Given the description of an element on the screen output the (x, y) to click on. 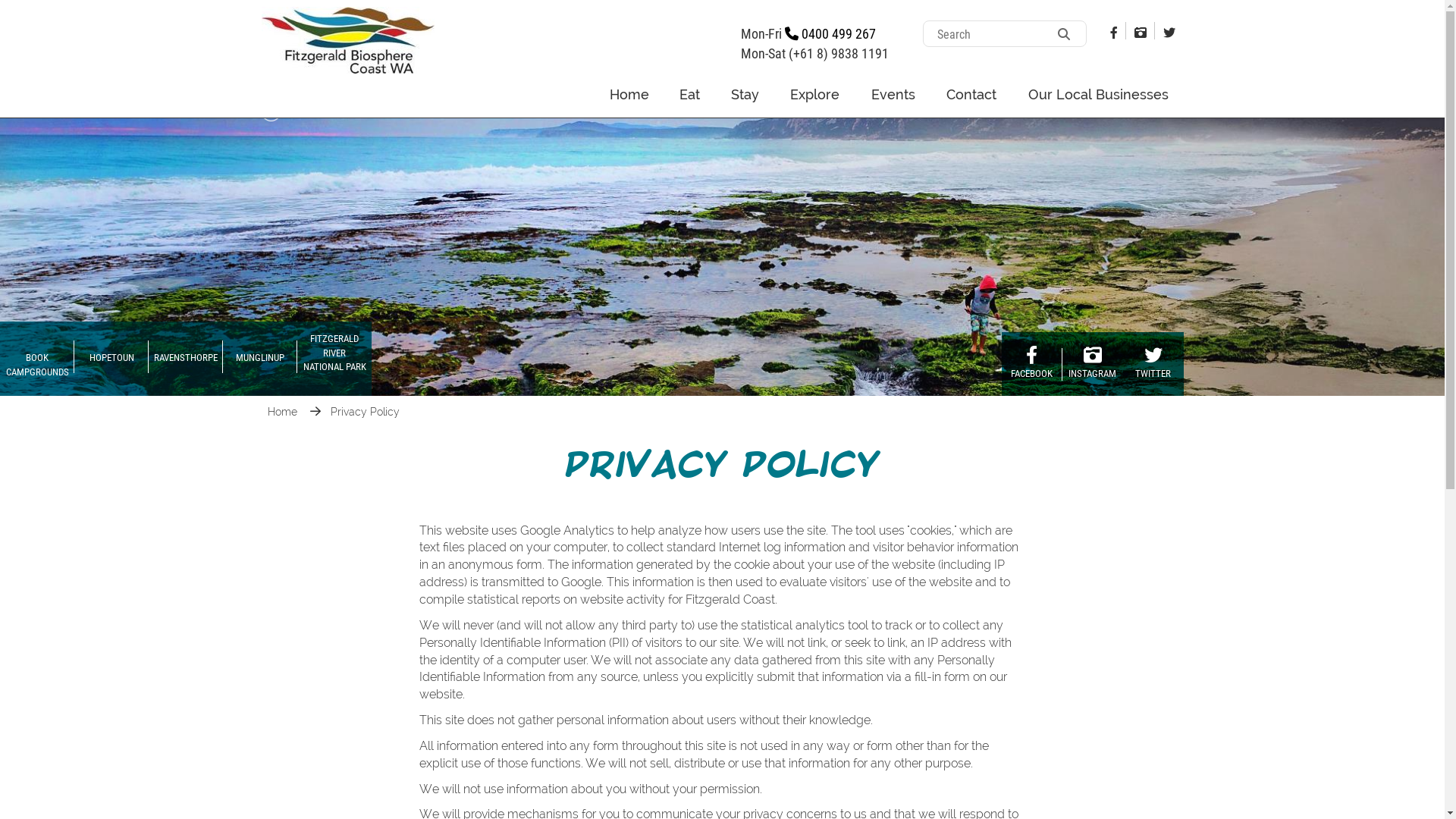
 0400 499 267 Element type: text (829, 33)
Follow us on Twitter Element type: hover (1168, 31)
BOOK CAMPGROUNDS Element type: text (37, 358)
TWITTER Element type: text (1152, 363)
FITZGERALD NATIONAL PARK Element type: text (330, 110)
Stay Element type: text (745, 94)
Home Element type: text (282, 411)
Our Local Businesses Element type: text (1098, 94)
Fitzgerald Coast Element type: hover (346, 38)
FITZGERALD RIVER NATIONAL PARK Element type: text (334, 358)
INSTAGRAM Element type: text (1091, 363)
Home Element type: text (629, 94)
RAVENSTHORPE Element type: text (185, 358)
Contact Element type: text (972, 94)
Events Element type: text (892, 94)
Privacy Policy Element type: text (364, 411)
HOPETOUN Element type: text (111, 358)
Reset Fields Element type: text (40, 12)
An Undiscovered Wilderness Element type: hover (722, 243)
Eat Element type: text (689, 94)
Visit us on Instagram Element type: hover (1139, 31)
Explore Element type: text (815, 94)
Visit us on Facebook Element type: hover (1113, 31)
FACEBOOK Element type: text (1031, 363)
MUNGLINUP Element type: text (259, 358)
